Given the description of an element on the screen output the (x, y) to click on. 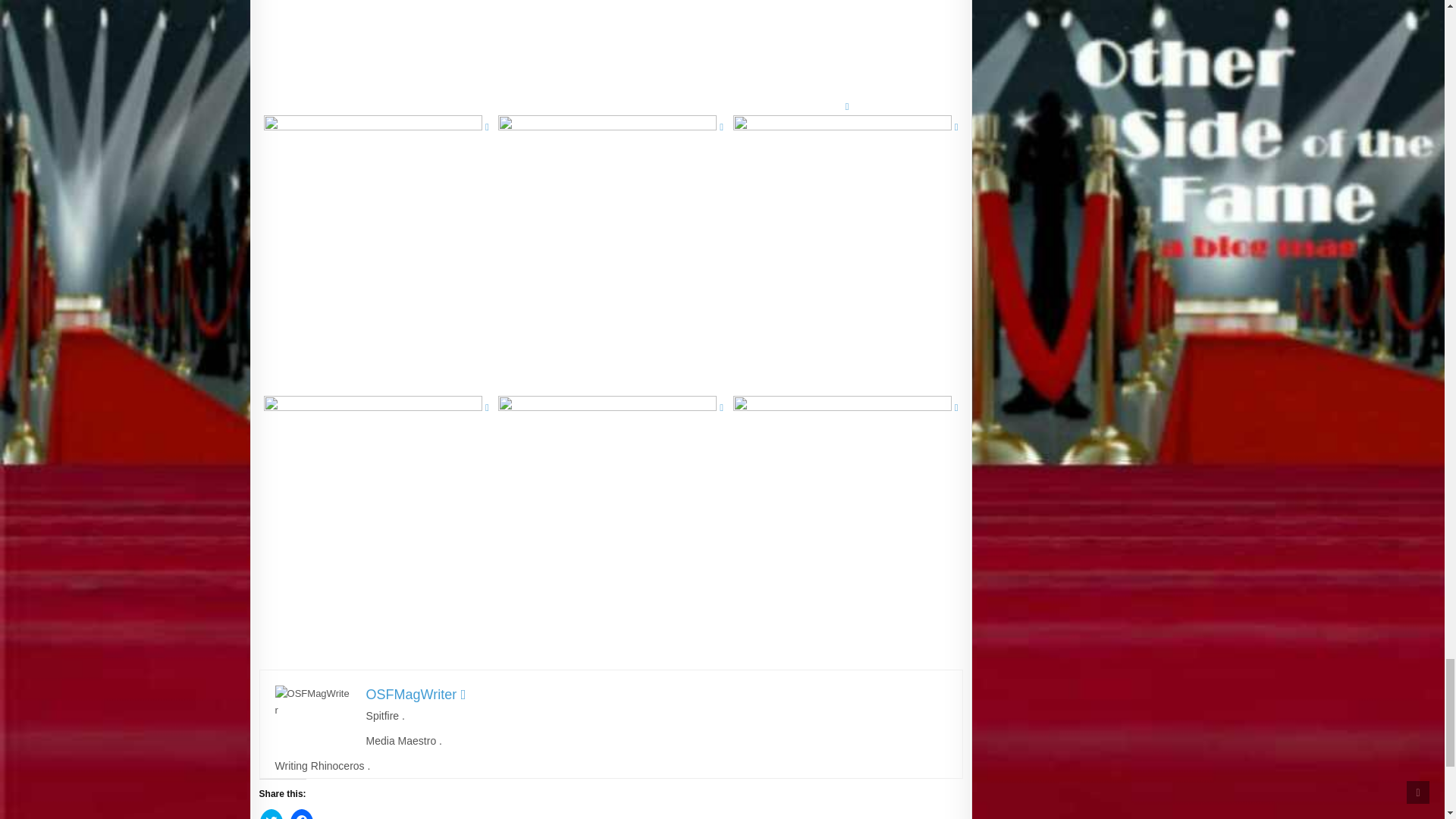
OSFMagWriter (415, 694)
Click to share on Facebook (301, 814)
Click to share on Twitter (271, 814)
